Given the description of an element on the screen output the (x, y) to click on. 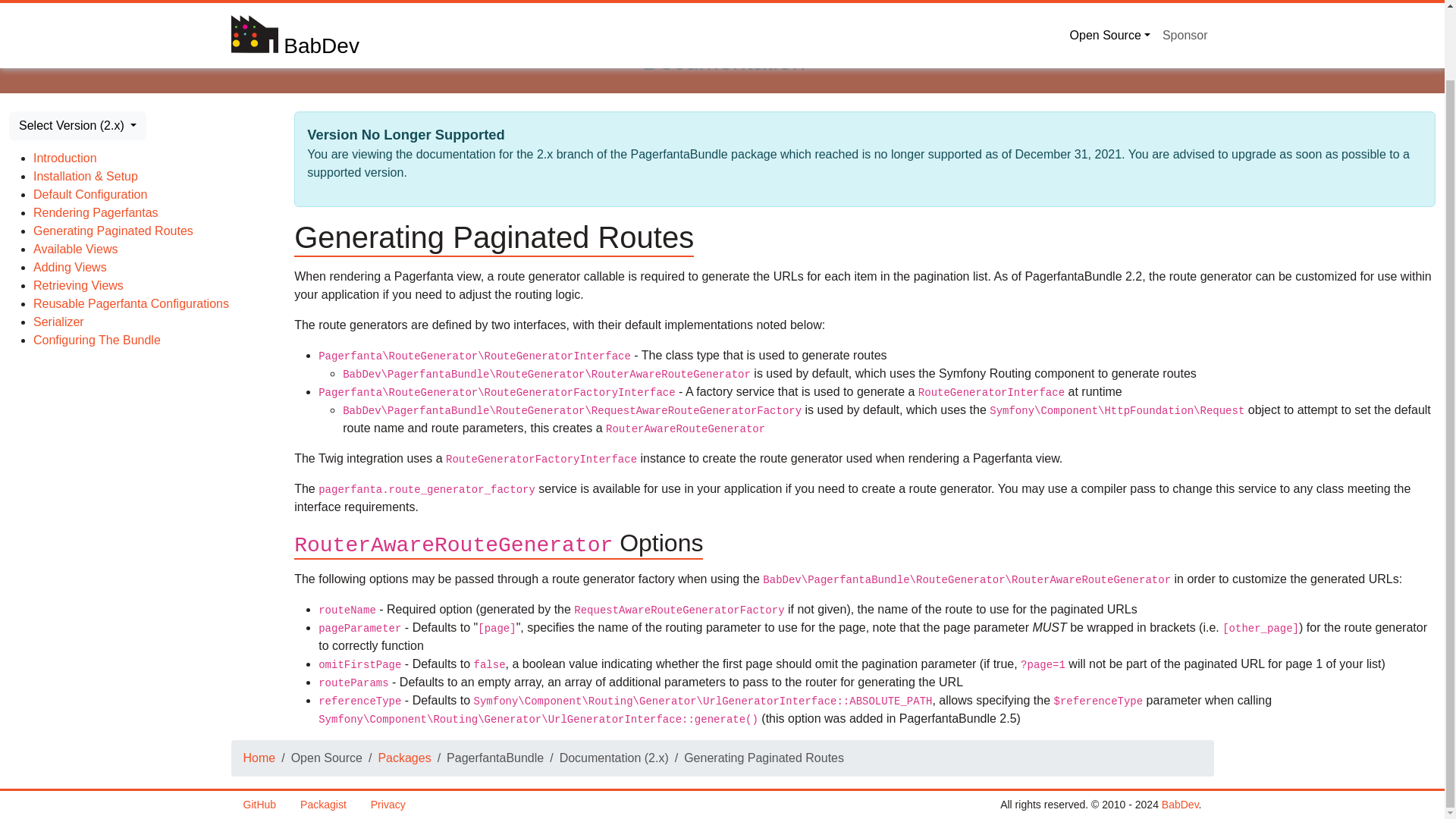
Retrieving Views (78, 285)
Reusable Pagerfanta Configurations (130, 303)
BabDev (1179, 804)
Introduction (65, 157)
Adding Views (69, 267)
Home (259, 757)
Serializer (58, 321)
Available Views (75, 248)
BabDev (1179, 804)
Default Configuration (90, 194)
Packages (403, 757)
Rendering Pagerfantas (95, 212)
Configuring The Bundle (96, 339)
Generating Paginated Routes (113, 230)
